Given the description of an element on the screen output the (x, y) to click on. 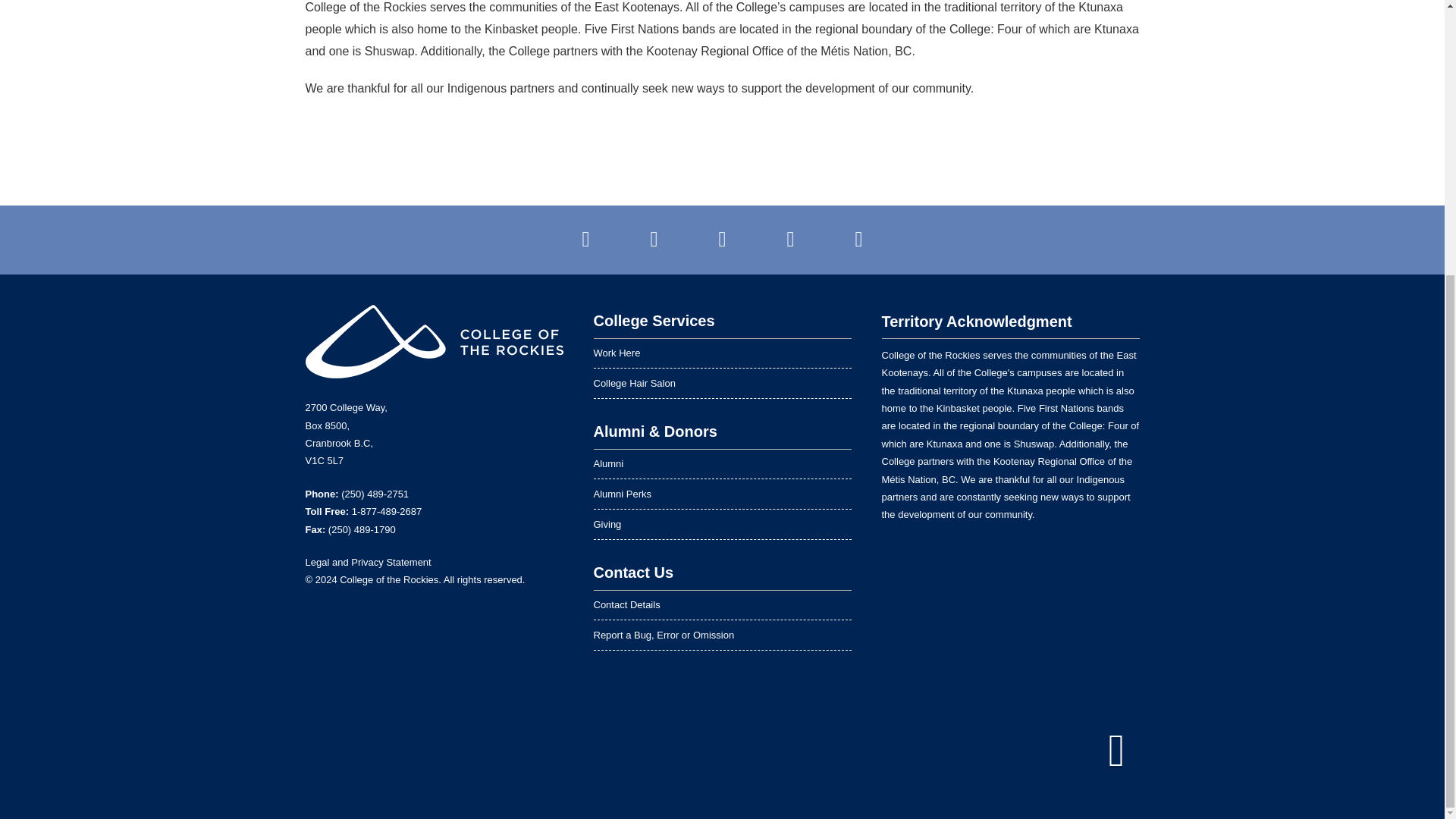
Alumni (721, 463)
Giving (721, 524)
Contact Us (721, 573)
LinkedIn (790, 239)
Work Here (721, 353)
Facebook (586, 239)
College Hair Salon (721, 383)
Instagram (858, 239)
Twitter (653, 239)
YouTube (722, 239)
Report a Bug, Error or Omission (721, 634)
Legal and Privacy Statement (367, 562)
College Services (721, 321)
Contact Details (721, 604)
1-877-489-2687 (387, 511)
